Given the description of an element on the screen output the (x, y) to click on. 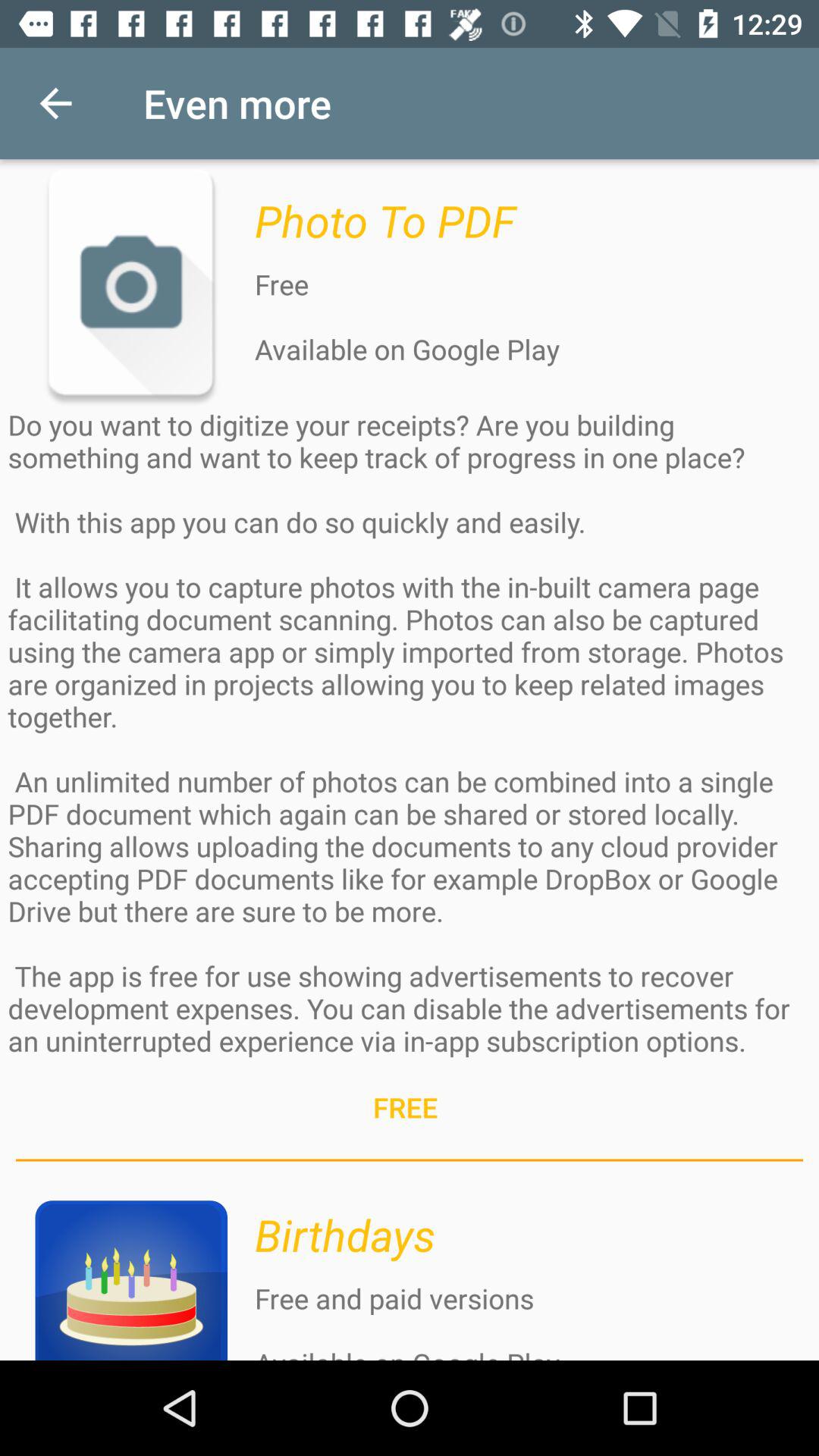
turn off icon next to even more (55, 103)
